Given the description of an element on the screen output the (x, y) to click on. 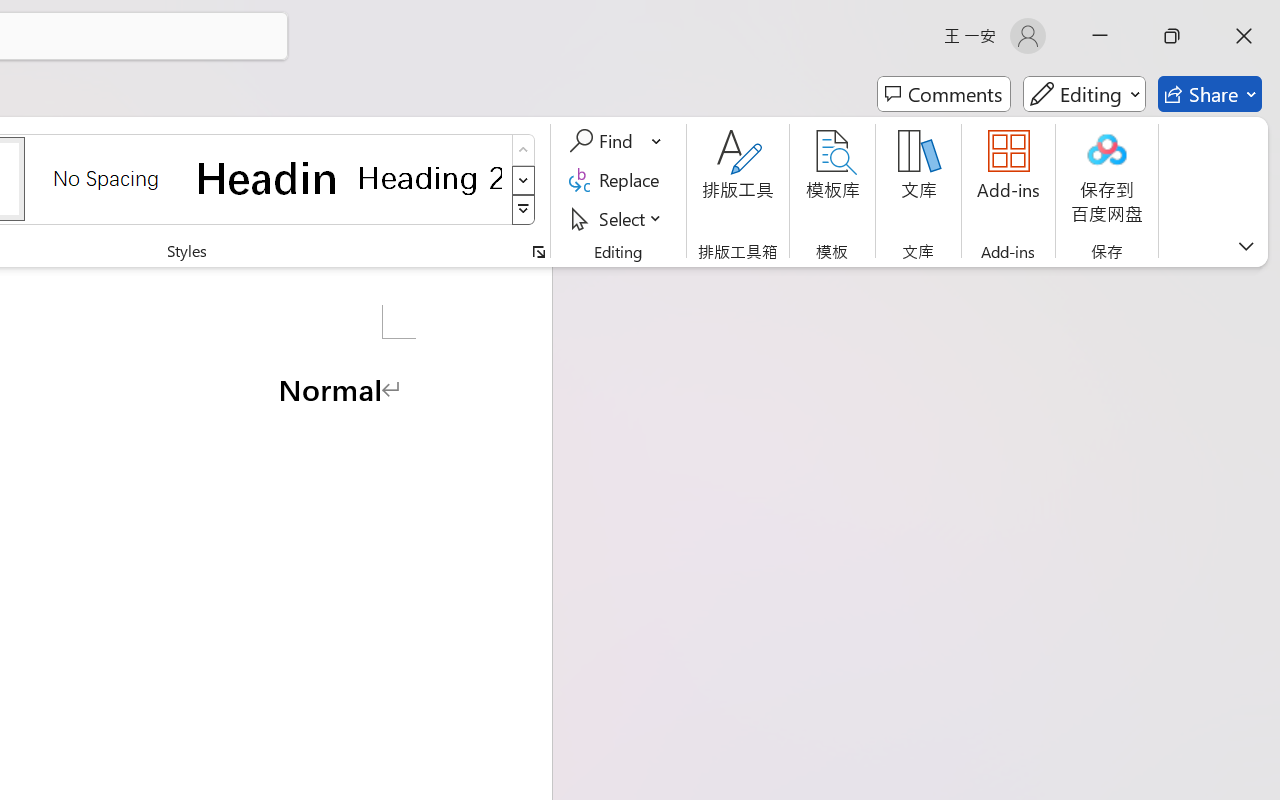
Styles (523, 209)
Styles... (538, 252)
Heading 2 (429, 178)
Select (618, 218)
Mode (1083, 94)
Row Down (523, 180)
